Given the description of an element on the screen output the (x, y) to click on. 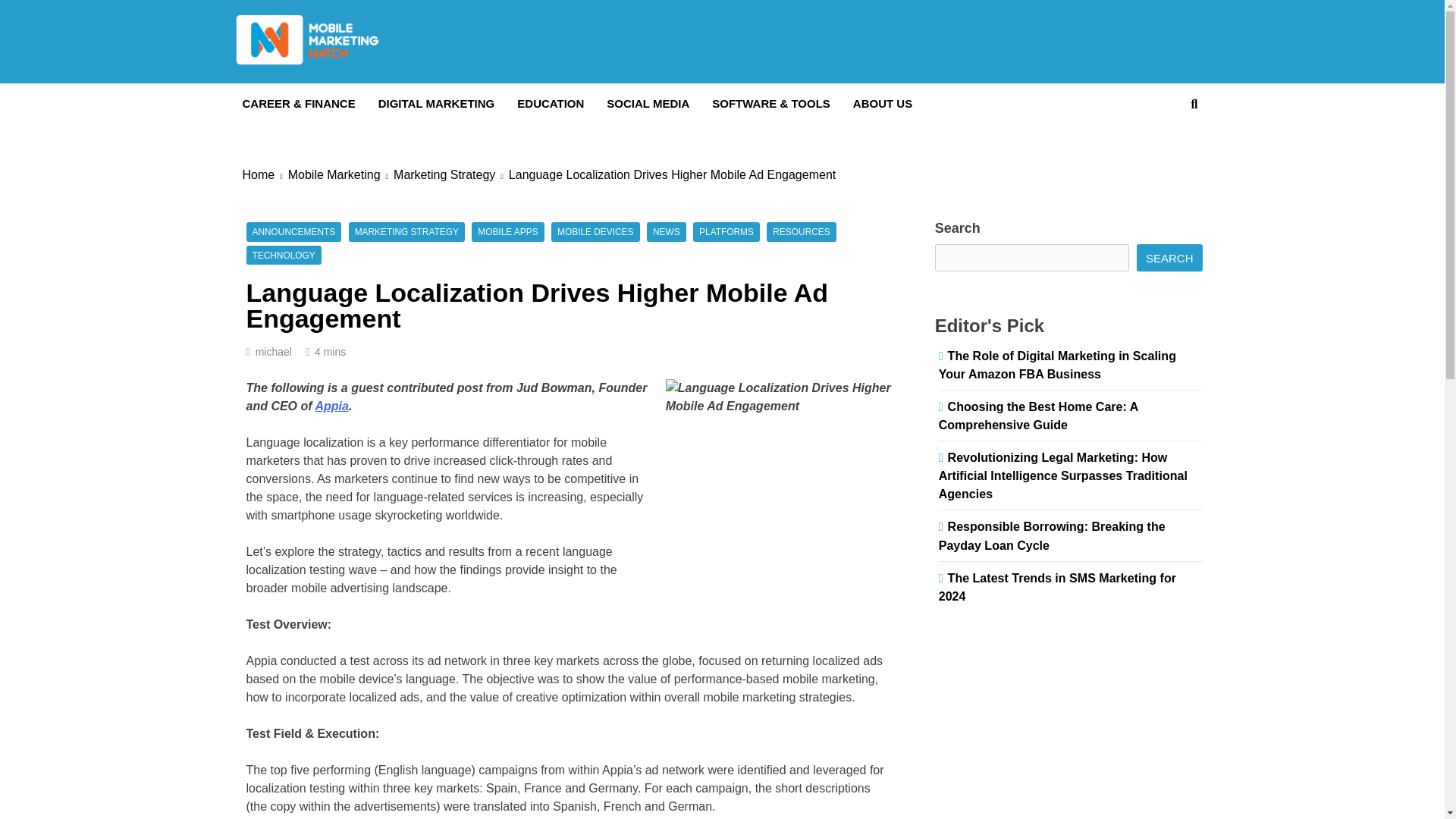
ANNOUNCEMENTS (292, 231)
MARKETING STRATEGY (406, 231)
MOBILE APPS (507, 231)
Mobile Marketing Watch (419, 88)
TECHNOLOGY (282, 254)
EDUCATION (550, 103)
Marketing Strategy (450, 175)
RESOURCES (801, 231)
Appia (330, 405)
michael (274, 351)
